Given the description of an element on the screen output the (x, y) to click on. 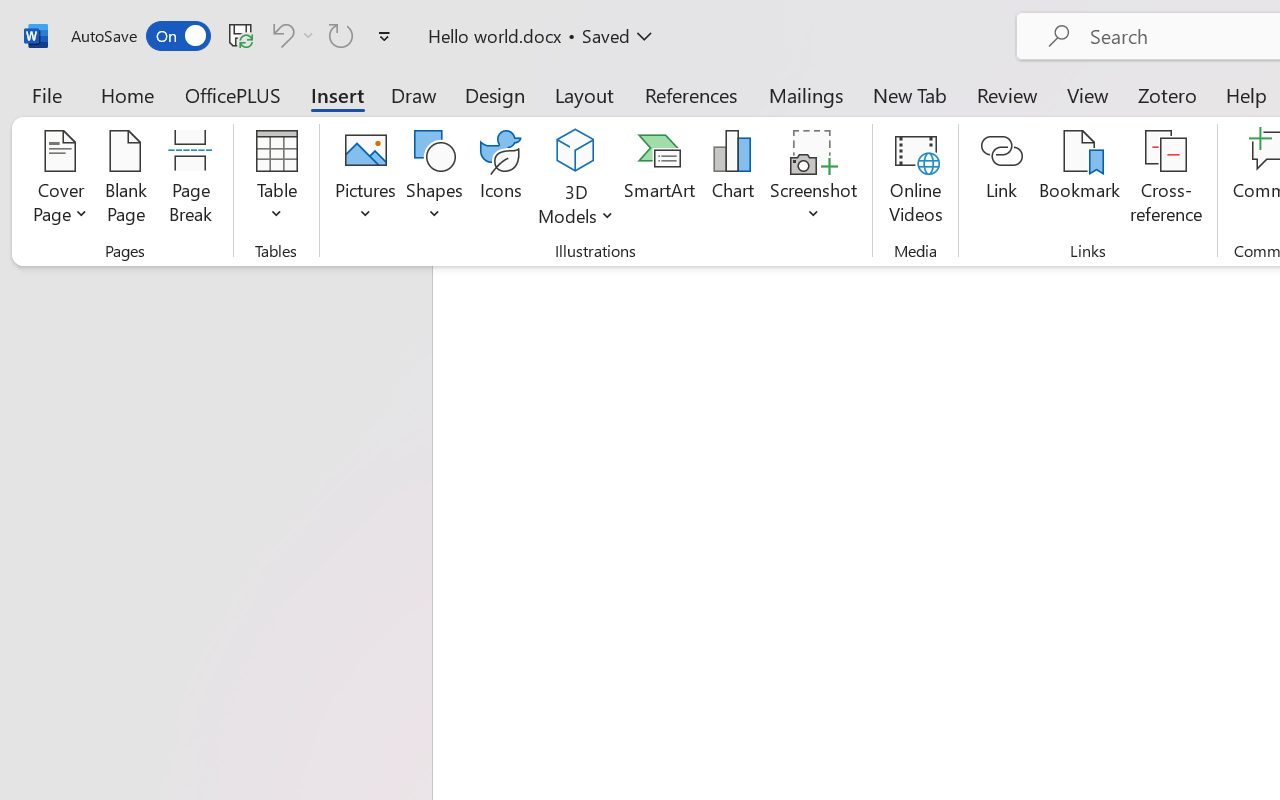
Can't Repeat (341, 35)
More Options (576, 208)
Customize Quick Access Toolbar (384, 35)
Online Videos... (915, 179)
Review (1007, 94)
SmartArt... (659, 179)
View (1087, 94)
References (690, 94)
OfficePLUS (233, 94)
Mailings (806, 94)
